Given the description of an element on the screen output the (x, y) to click on. 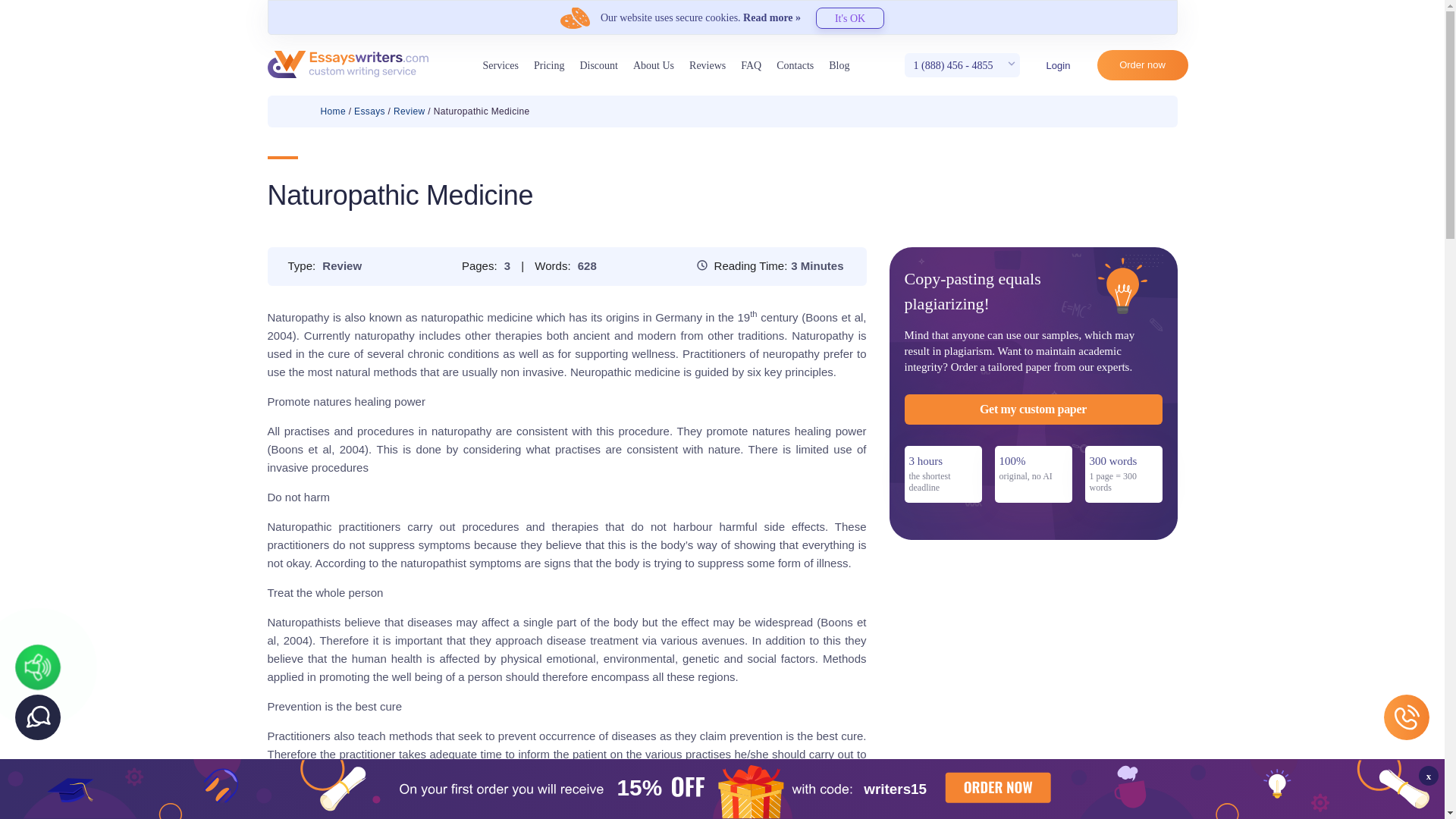
It's OK (849, 17)
Services (500, 64)
